Given the description of an element on the screen output the (x, y) to click on. 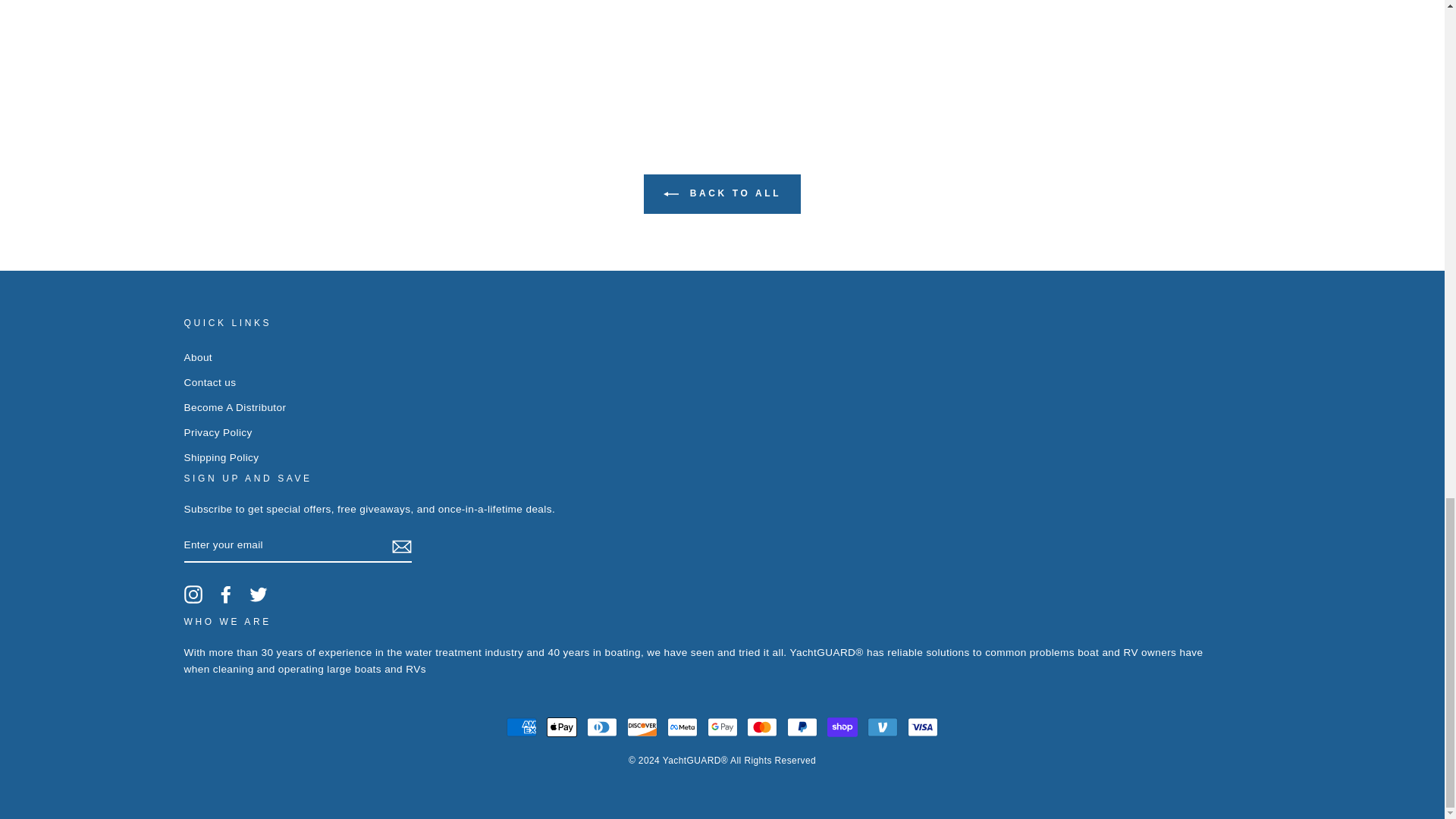
Apple Pay (561, 726)
American Express (521, 726)
Diners Club (601, 726)
Discover (642, 726)
